Given the description of an element on the screen output the (x, y) to click on. 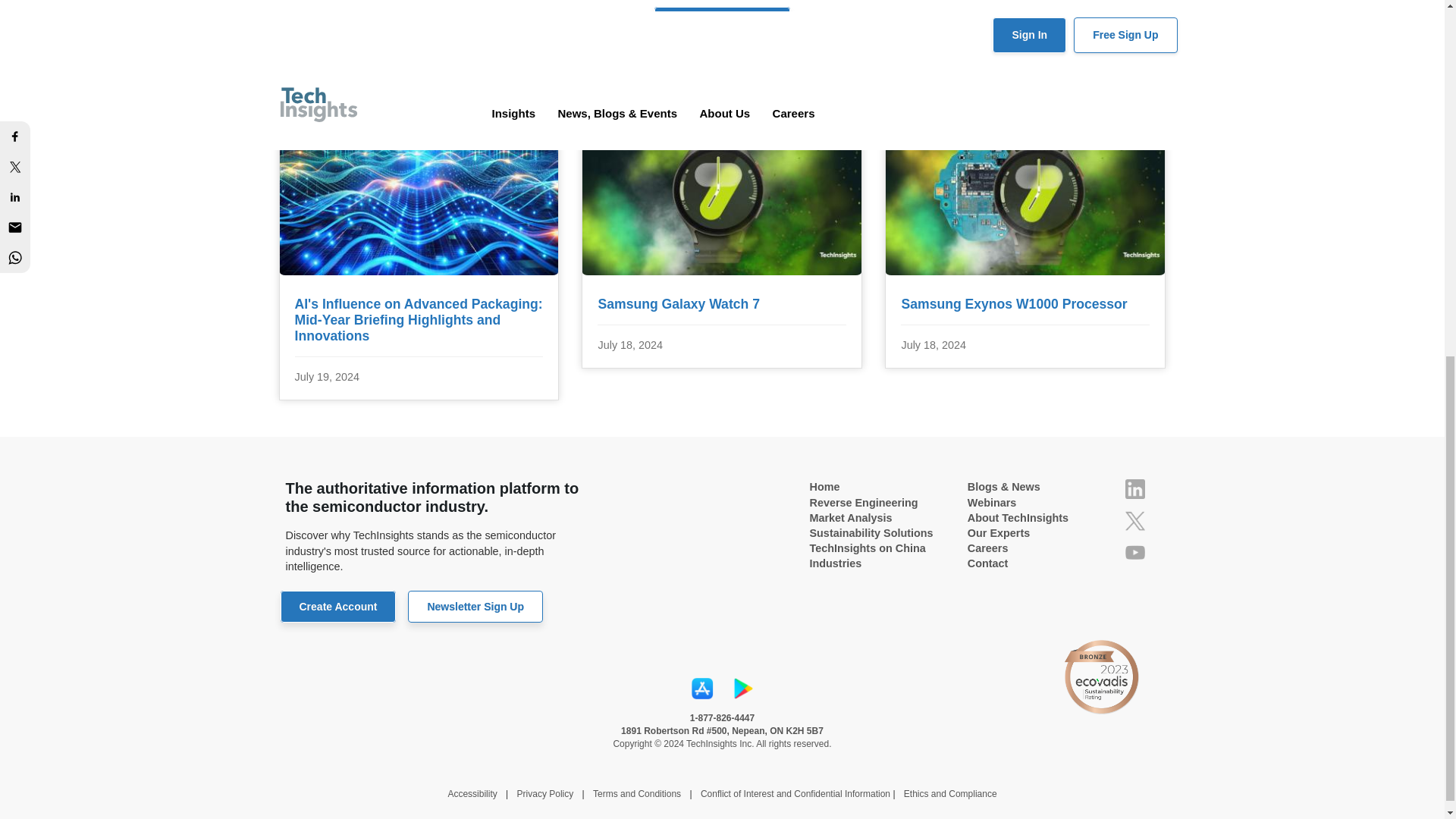
Twitter (1134, 520)
EcoVadis (1100, 676)
LinkedIn (1134, 488)
YouTube (1134, 552)
